Given the description of an element on the screen output the (x, y) to click on. 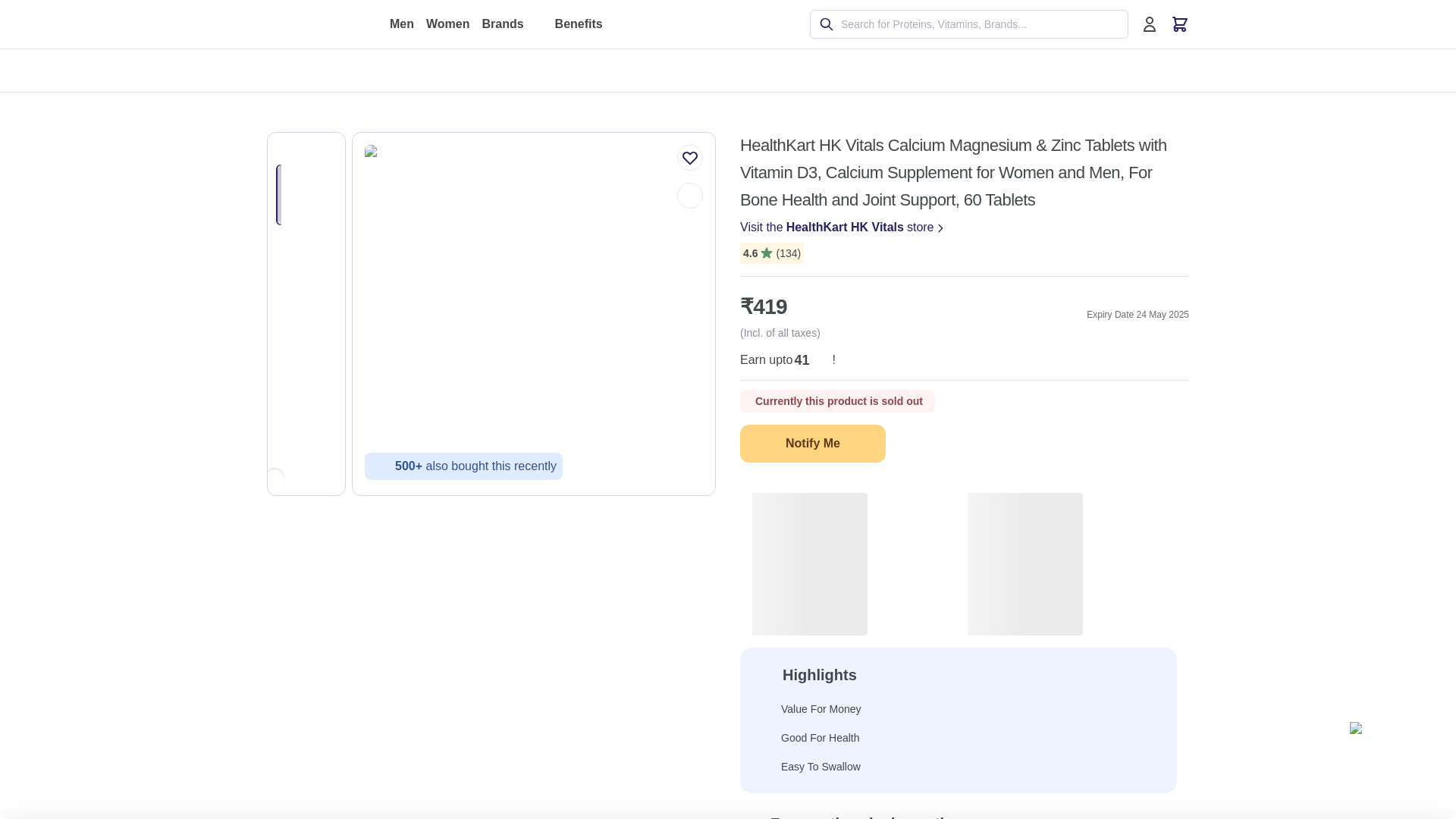
Notify Me (812, 443)
Benefits (587, 24)
Women (447, 24)
Men (401, 24)
Brands (511, 24)
